Given the description of an element on the screen output the (x, y) to click on. 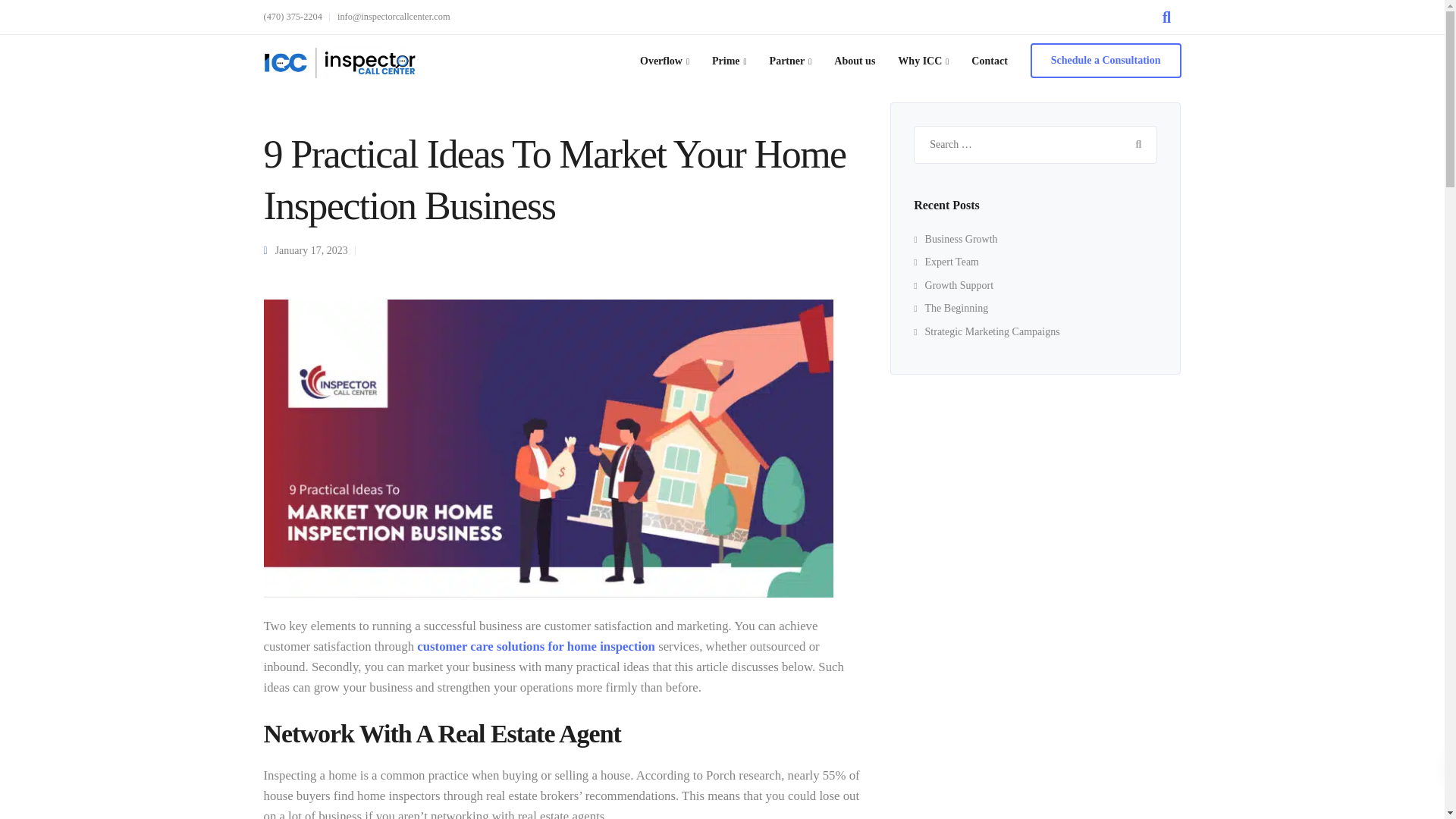
Expert Team (946, 261)
Partner (791, 60)
Overflow (664, 60)
Prime (729, 60)
Partner (791, 60)
Contact (988, 60)
About us (854, 60)
Why ICC (922, 60)
Business Growth (955, 238)
Prime (729, 60)
